Given the description of an element on the screen output the (x, y) to click on. 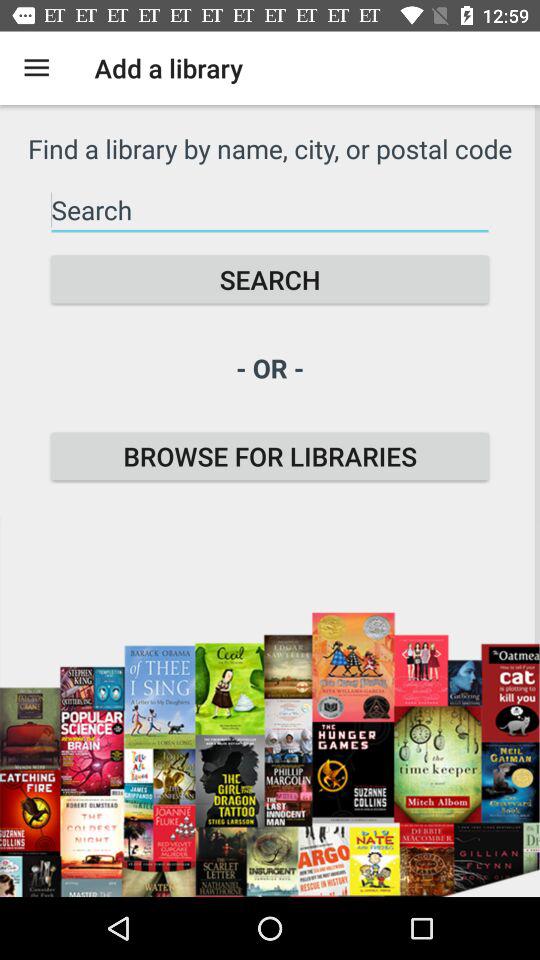
search option (269, 210)
